Given the description of an element on the screen output the (x, y) to click on. 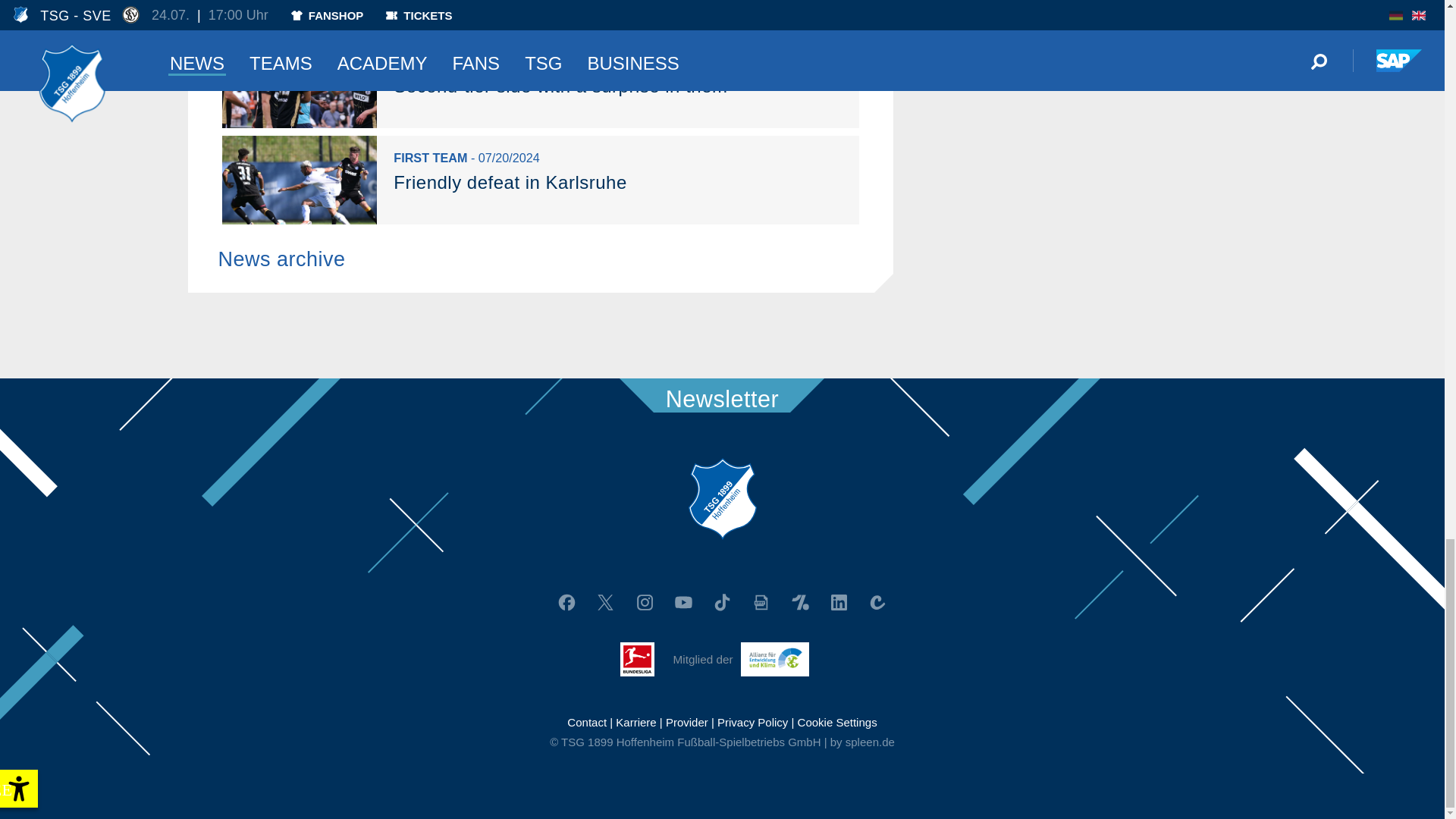
Cookie Settings (837, 721)
